Given the description of an element on the screen output the (x, y) to click on. 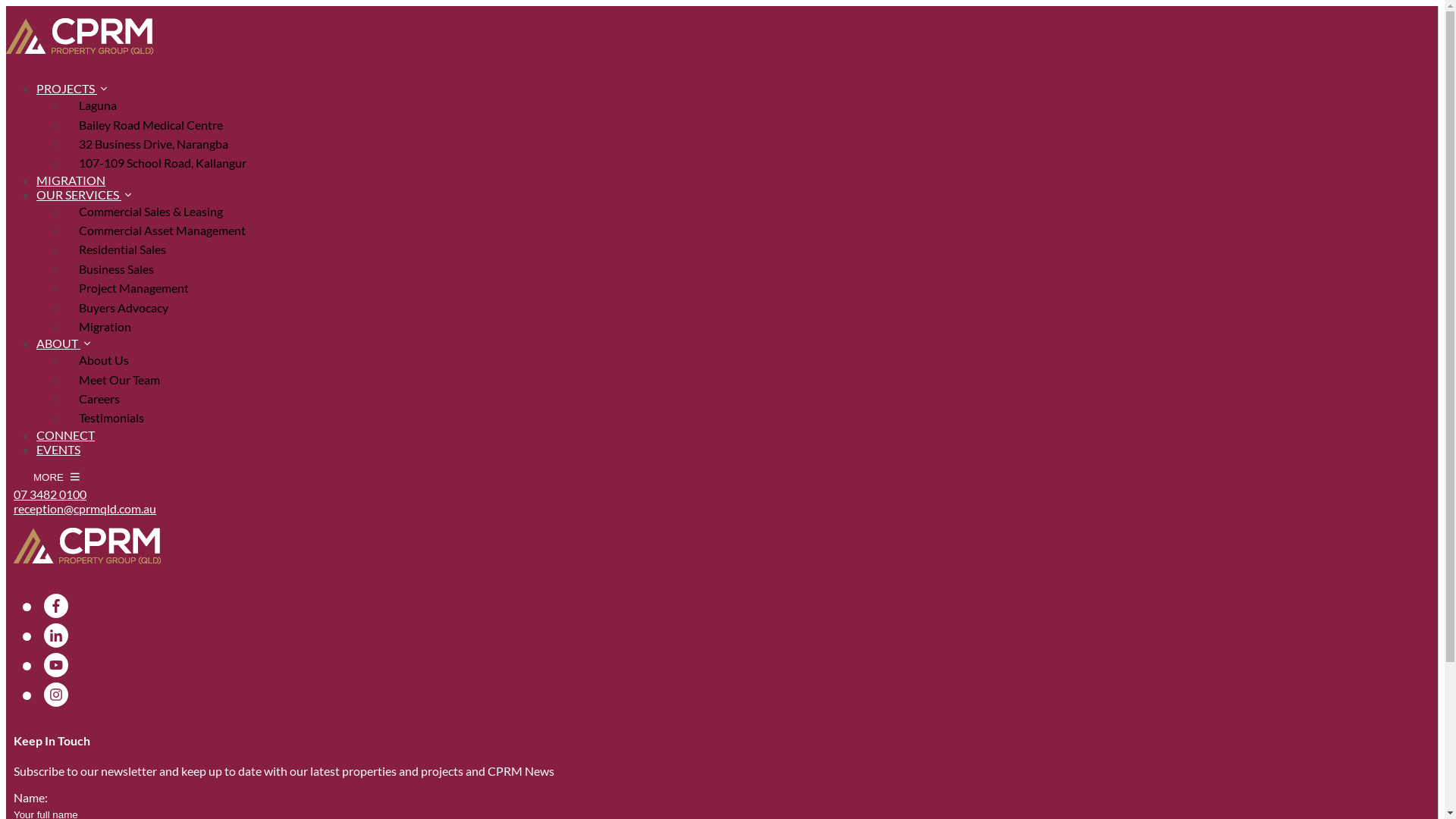
Meet Our Team Element type: text (752, 379)
Instagram Element type: text (55, 694)
Meet Our Team Element type: text (84, 377)
Buyers Advocacy Element type: text (752, 306)
MIGRATION Element type: text (70, 179)
Commercial For Sale Element type: text (54, 118)
Sale Element type: text (15, 106)
Business Sales Element type: text (752, 268)
Commercial For Sale Element type: text (96, 273)
OUR SERVICES Element type: text (83, 193)
EVENTS Element type: text (58, 449)
Bailey Road Medical Centre Element type: text (752, 123)
CONNECT Element type: text (65, 434)
reception@cprmqld.com.au Element type: text (84, 508)
Home Element type: text (20, 93)
Laguna Element type: text (752, 104)
Testimonials Element type: text (752, 416)
LinkedIn Element type: text (55, 634)
32 Business Drive, Narangba Element type: text (752, 143)
Project Management Element type: text (752, 287)
About Us Element type: text (752, 359)
Business For Sale Element type: text (88, 287)
Careers Element type: text (752, 398)
Residential For Sale Element type: text (94, 301)
Commercial Asset Management Element type: text (752, 229)
Careers Element type: text (63, 391)
Residential Sales Element type: text (752, 248)
07 3482 0100 Element type: text (49, 493)
Commercial Sales & Leasing Element type: text (752, 210)
Youtube Element type: text (55, 664)
Migration Element type: text (752, 325)
About Us Element type: text (68, 362)
ABOUT Element type: text (63, 342)
MORE Element type: text (55, 476)
PROJECTS Element type: text (71, 88)
107-109 School Road, Kallangur Element type: text (752, 162)
Facebook Element type: text (55, 605)
